Given the description of an element on the screen output the (x, y) to click on. 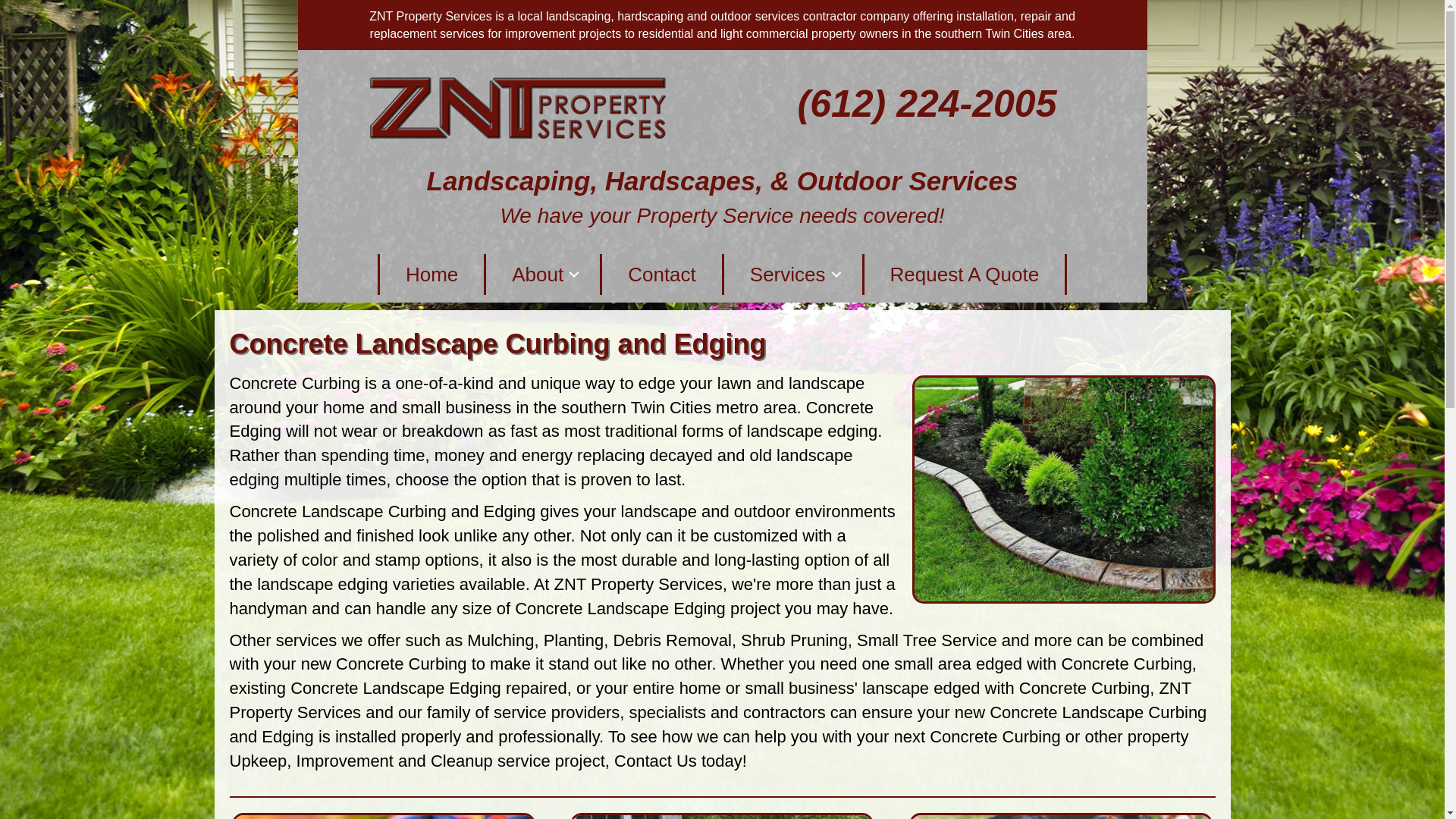
Landscaping (507, 180)
Services (793, 273)
Hardscapes (680, 180)
About (542, 273)
Shrub Pruning (794, 640)
Debris Removal (672, 640)
Upkeep (257, 760)
Request A Quote (964, 273)
traditional forms of landscape edging (741, 430)
Improvement (345, 760)
Outdoor Services (906, 180)
Cleanup (461, 760)
Contact (661, 273)
Mulching (500, 640)
Planting (573, 640)
